Given the description of an element on the screen output the (x, y) to click on. 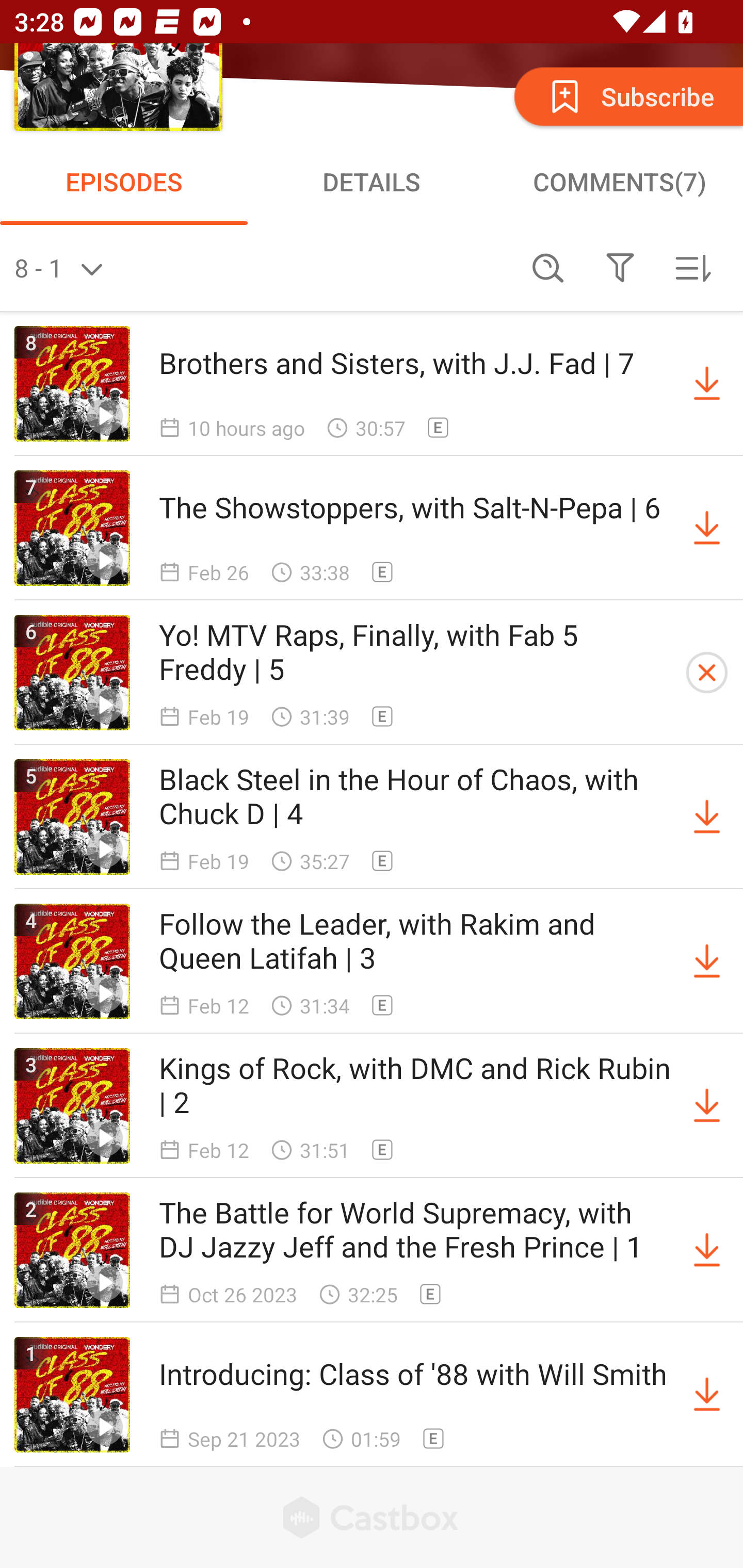
Subscribe (627, 96)
EPISODES (123, 180)
DETAILS (371, 180)
COMMENTS(7) (619, 180)
8 - 1  (262, 268)
 Search (547, 268)
 (619, 268)
 Sorted by newest first (692, 268)
Download (706, 384)
Download (706, 528)
Cancel Downloading (706, 672)
Download (706, 816)
Download (706, 961)
Download (706, 1105)
Download (706, 1250)
Download (706, 1394)
